Given the description of an element on the screen output the (x, y) to click on. 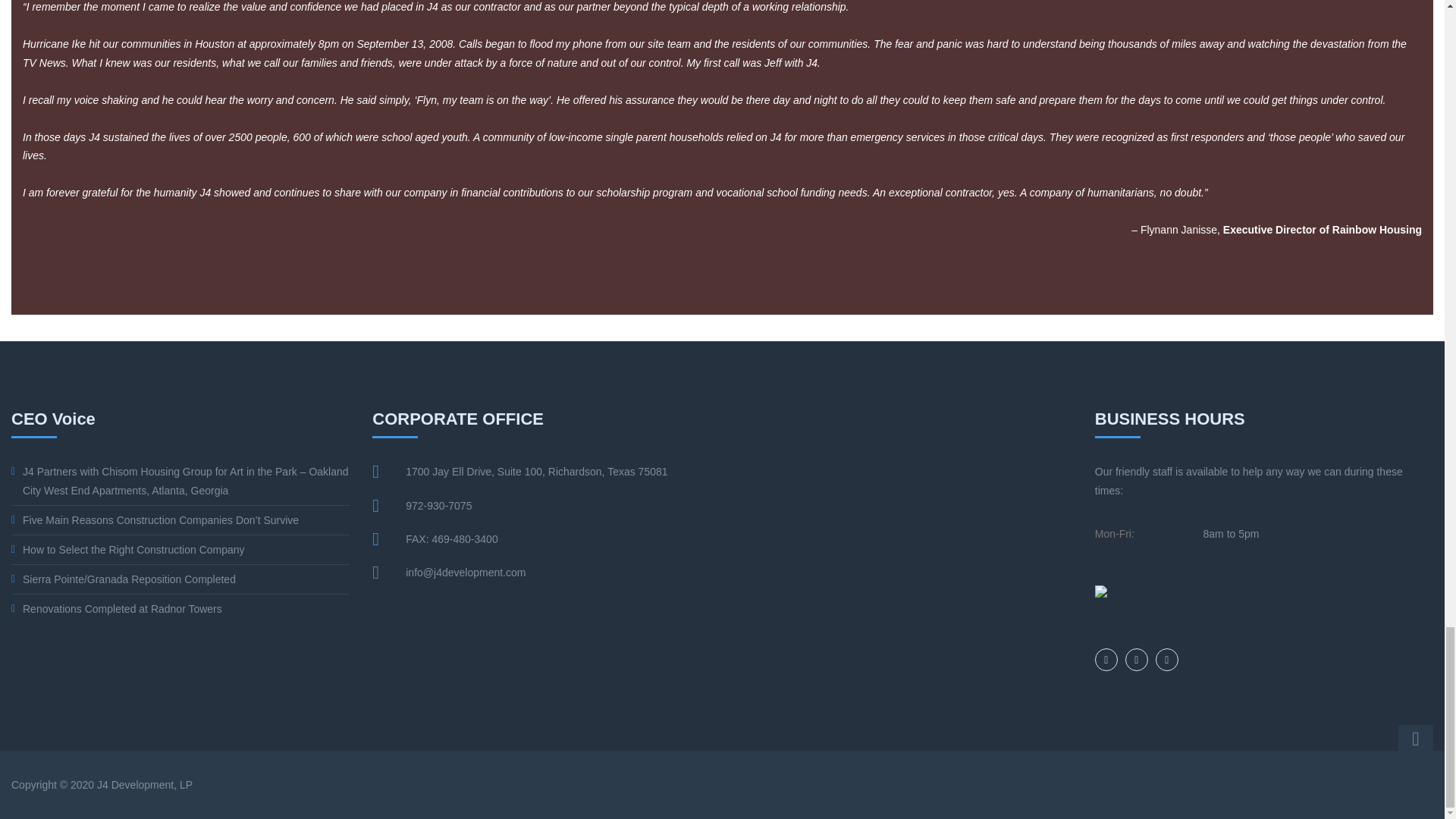
Twitter (1106, 659)
Facebook (1136, 659)
Linkedin (1166, 659)
